Given the description of an element on the screen output the (x, y) to click on. 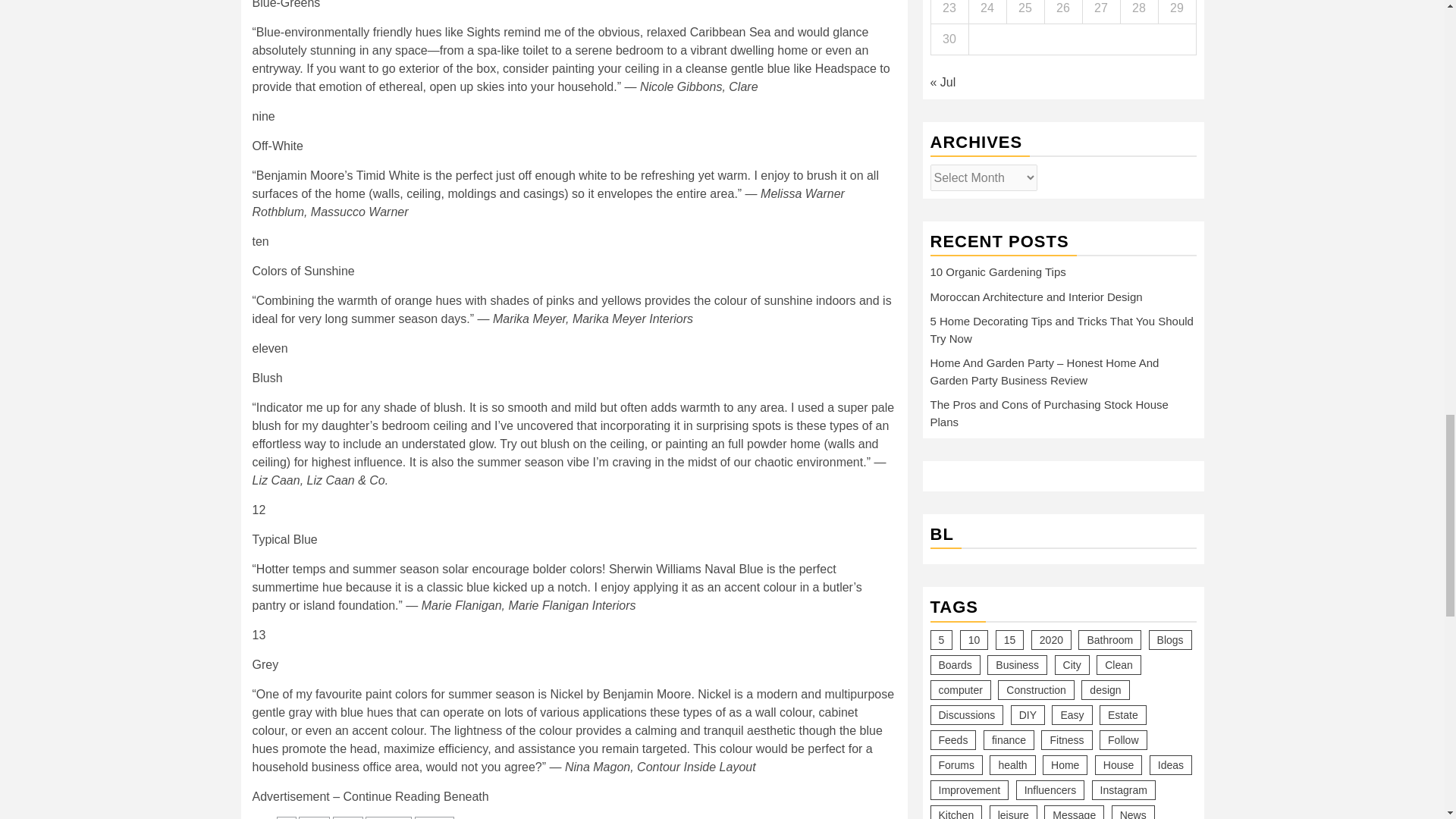
Seedbacklink (943, 48)
Summer (388, 817)
2020 (314, 817)
13 (286, 817)
Trends (434, 817)
color (347, 817)
